Given the description of an element on the screen output the (x, y) to click on. 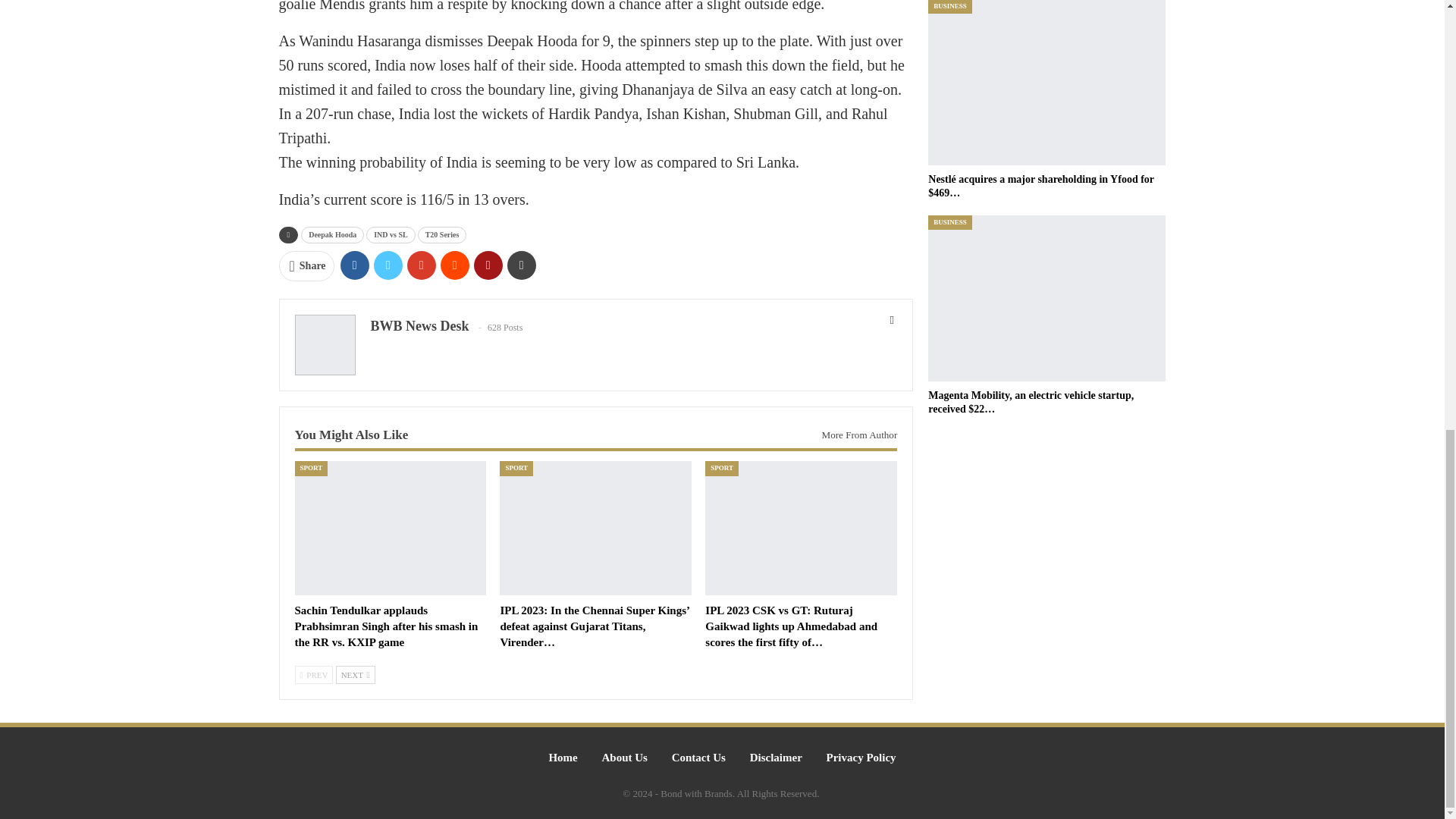
Previous (313, 674)
